Given the description of an element on the screen output the (x, y) to click on. 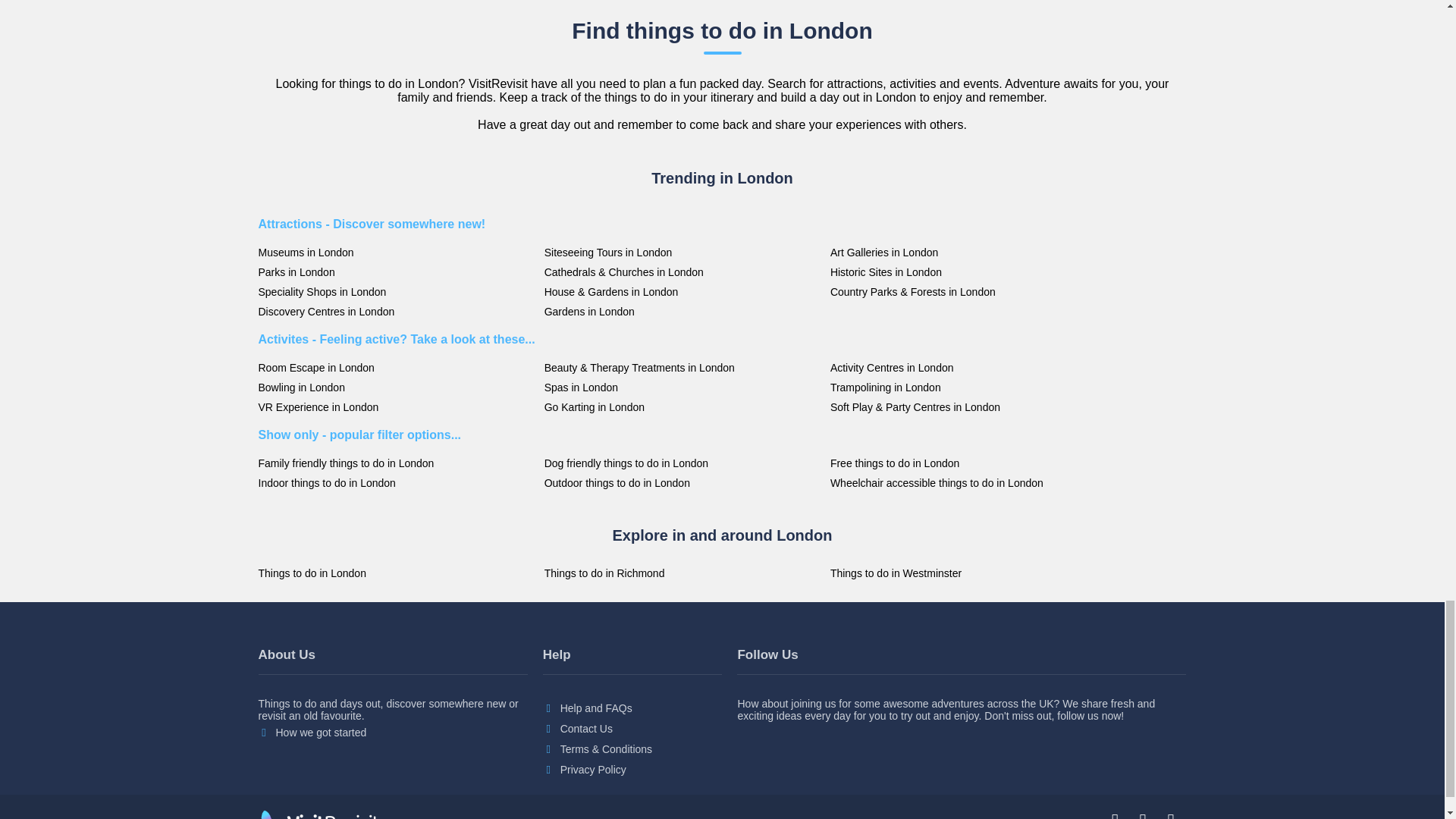
Speciality Shops in London (396, 291)
Parks in London (396, 272)
Discovery Centres in London (396, 311)
Siteseeing Tours in London (683, 252)
Museums in London (396, 252)
Room Escape in London (396, 367)
Activity Centres in London (968, 367)
Art Galleries in London (968, 252)
Historic Sites in London (968, 272)
Gardens in London (683, 311)
